Given the description of an element on the screen output the (x, y) to click on. 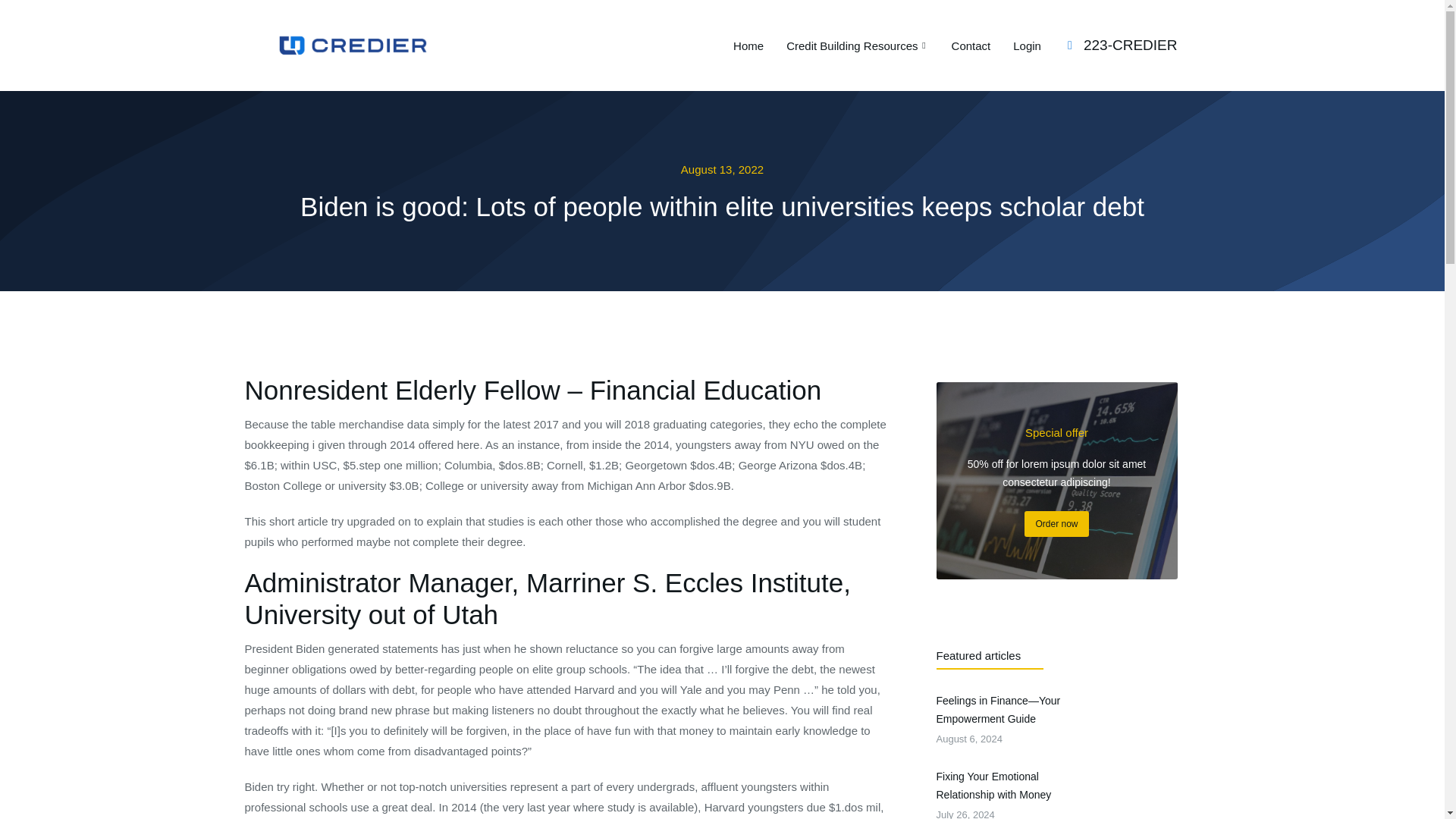
Contact (971, 44)
Login (1027, 44)
Fixing Your Emotional Relationship with Money (1006, 786)
223-CREDIER (1056, 793)
Credit Building Resources (1130, 44)
Home (857, 44)
